Given the description of an element on the screen output the (x, y) to click on. 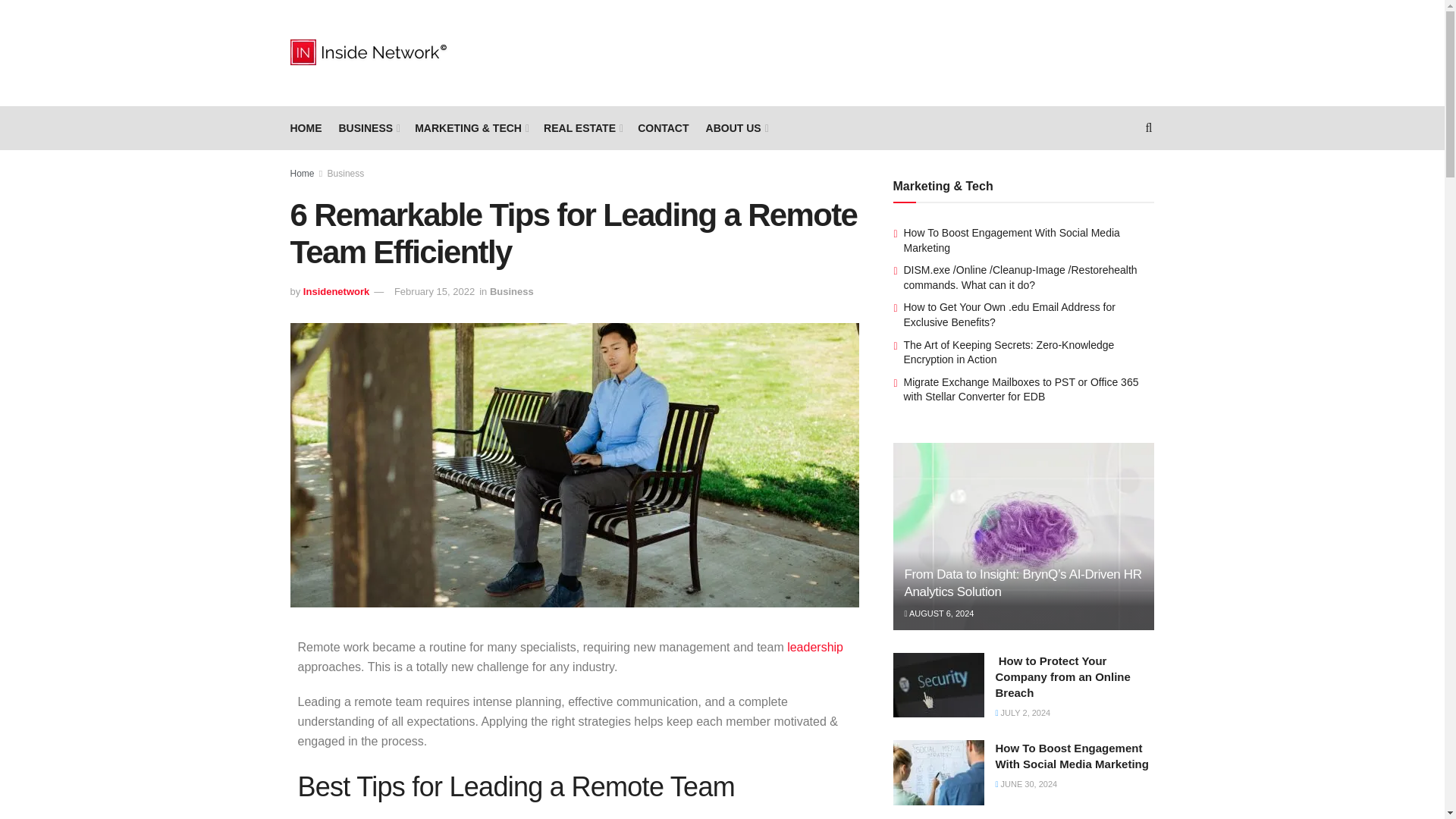
Insidenetwork (335, 291)
CONTACT (662, 127)
February 15, 2022 (434, 291)
Business (346, 173)
Business (511, 291)
HOME (305, 127)
REAL ESTATE (582, 127)
BUSINESS (367, 127)
ABOUT US (736, 127)
Home (301, 173)
